Given the description of an element on the screen output the (x, y) to click on. 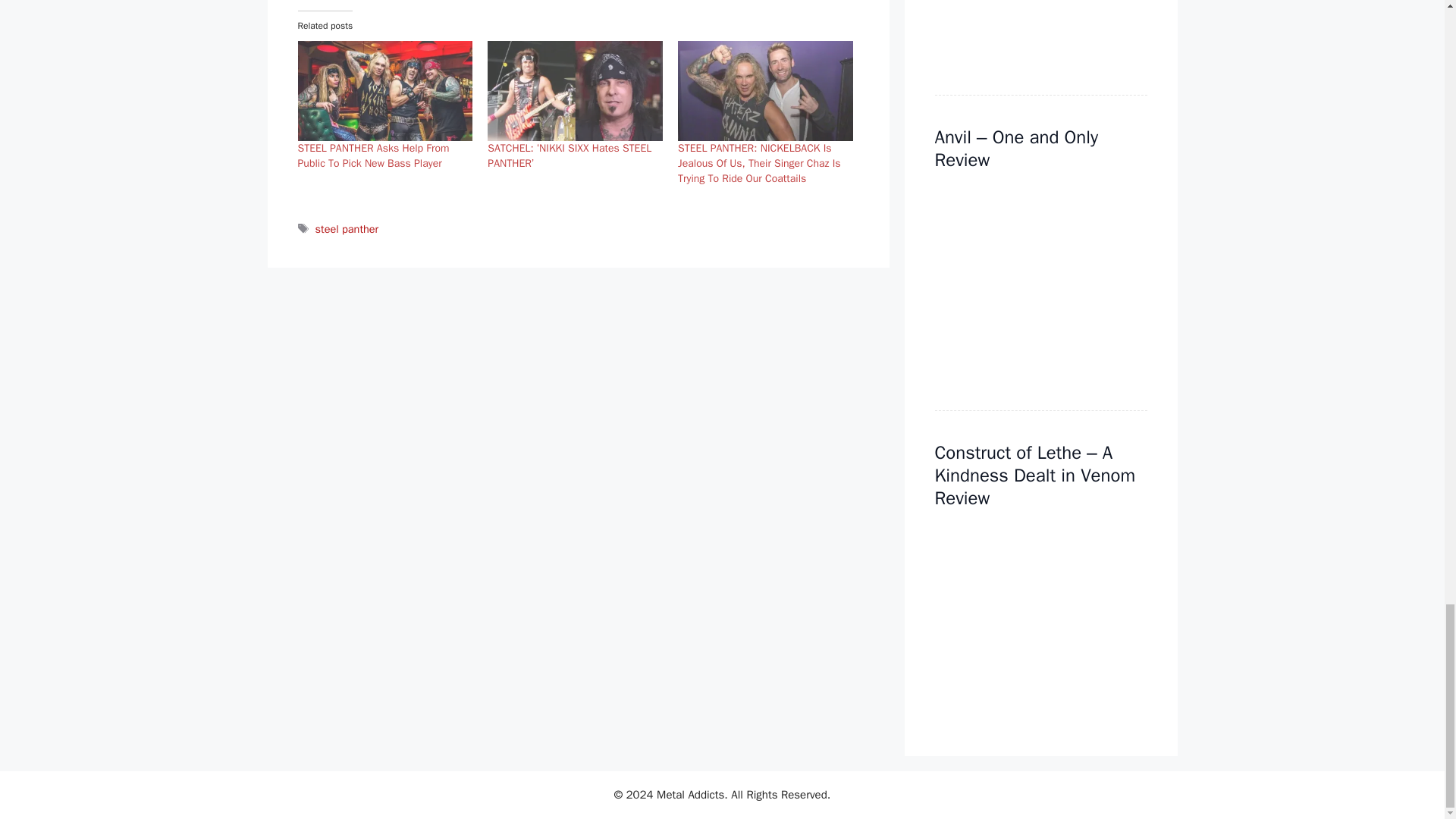
STEEL PANTHER Asks Help From Public To Pick New Bass Player (372, 155)
